Given the description of an element on the screen output the (x, y) to click on. 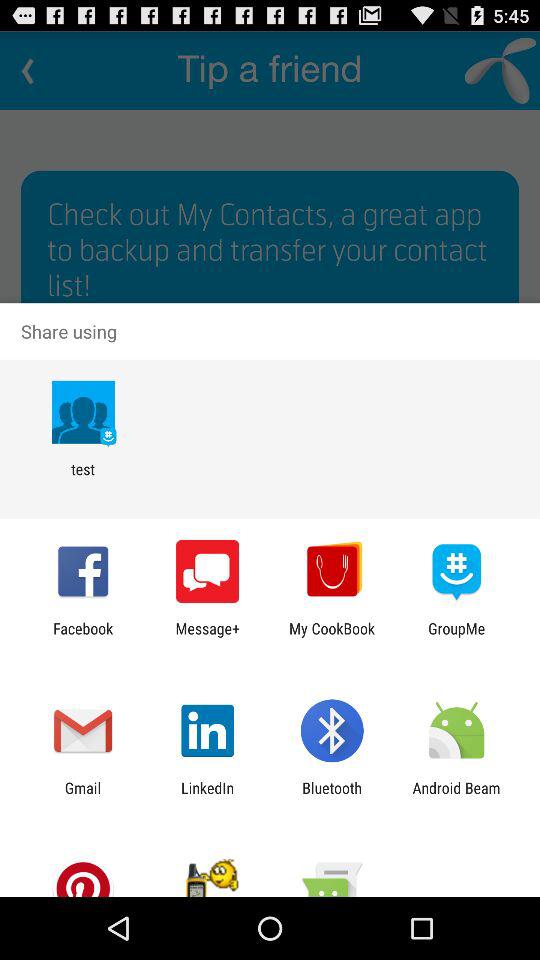
choose item to the left of message+ (83, 637)
